Given the description of an element on the screen output the (x, y) to click on. 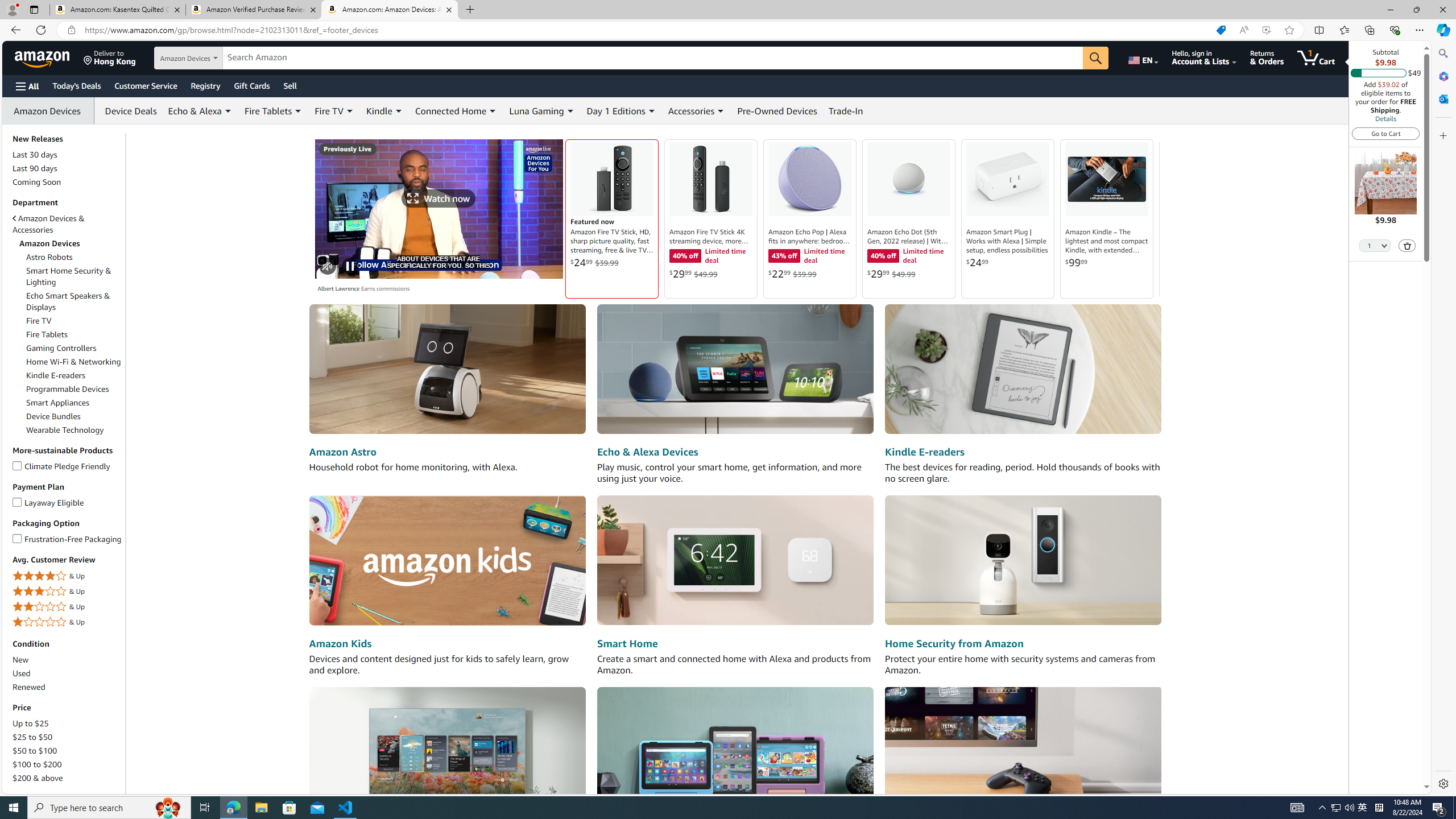
Home Security devices (1022, 560)
Luna Gaming (541, 110)
Fire TV (74, 320)
Fire TV devices (447, 751)
Used (67, 672)
Echo & Alexa (199, 110)
Used (21, 673)
Hello, sign in Account & Lists (1203, 57)
Kindle (379, 110)
Echo Smart Speakers & Displays (74, 300)
Renewed (29, 687)
Amazon Astro (342, 451)
